Given the description of an element on the screen output the (x, y) to click on. 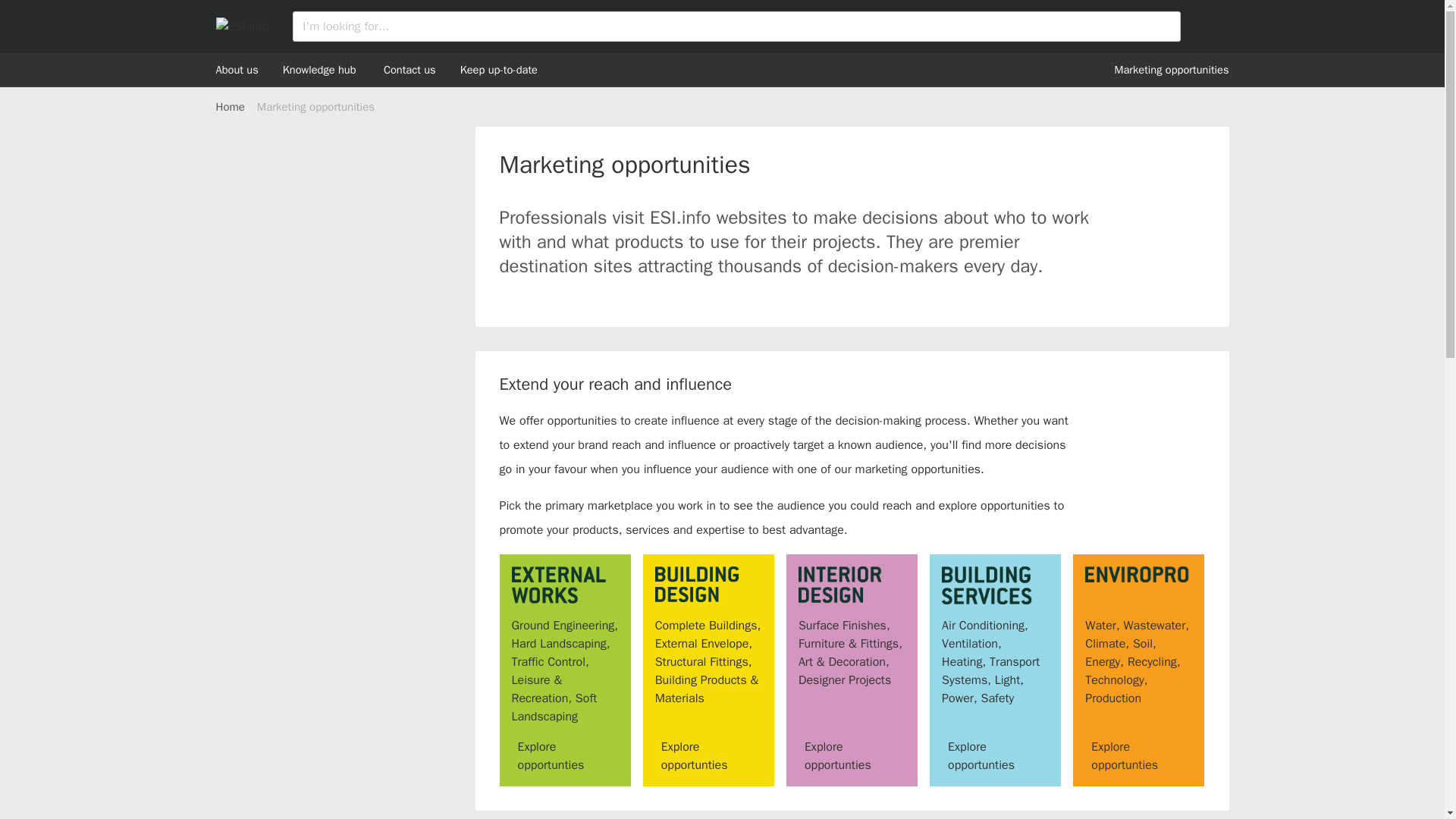
Marketing opportunities (315, 106)
Keep up-to-date (498, 69)
Home (229, 106)
About us (236, 69)
Marketing opportunities (1171, 69)
Contact us (409, 69)
